Given the description of an element on the screen output the (x, y) to click on. 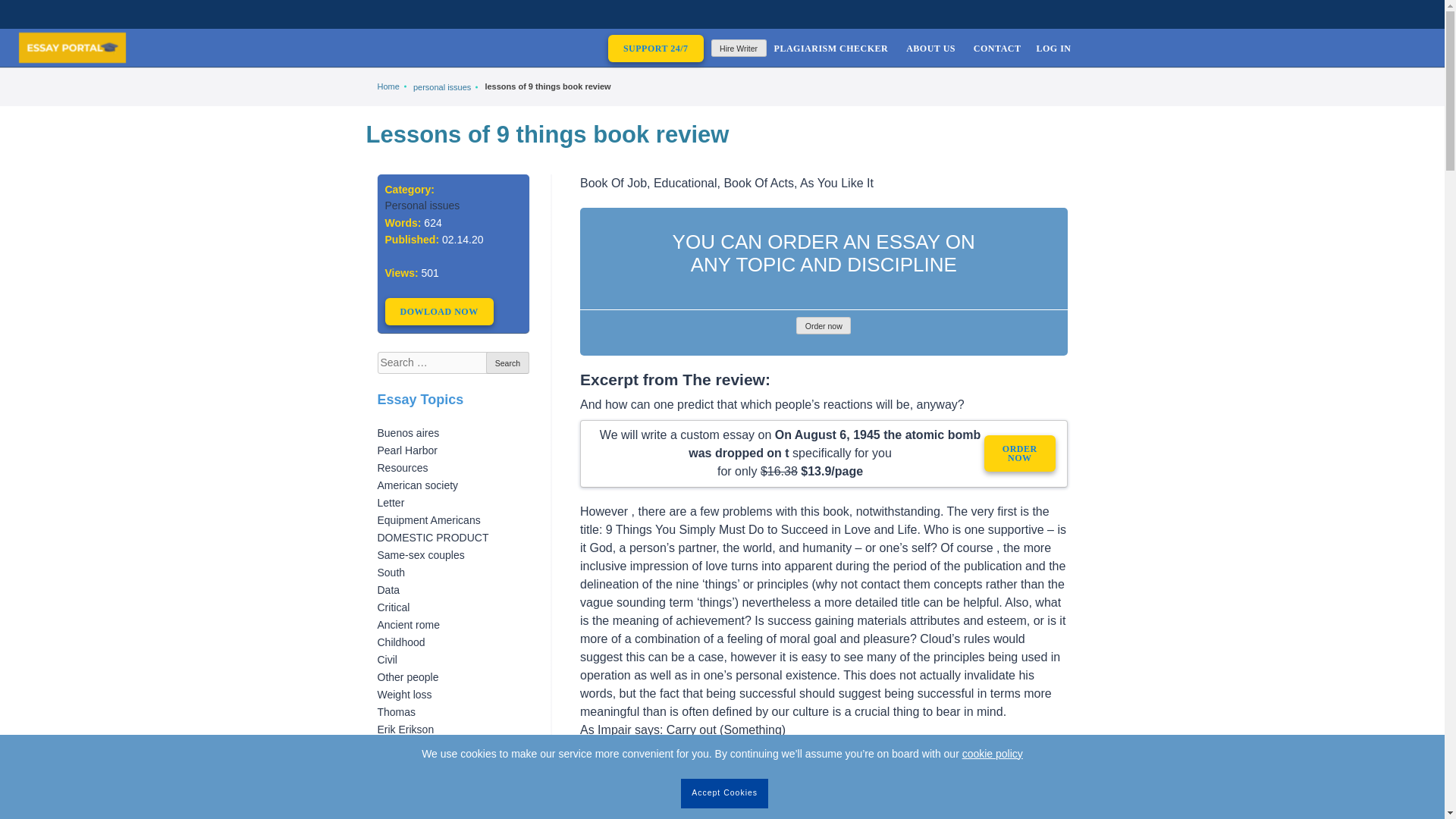
LOG IN (1052, 47)
Other people (408, 676)
DOMESTIC PRODUCT (433, 537)
Weight loss (404, 694)
Letter (390, 502)
Same-sex couples (420, 554)
Erik Erikson (405, 729)
Personal issues (422, 205)
Civil (387, 659)
Ancient rome (408, 624)
